Given the description of an element on the screen output the (x, y) to click on. 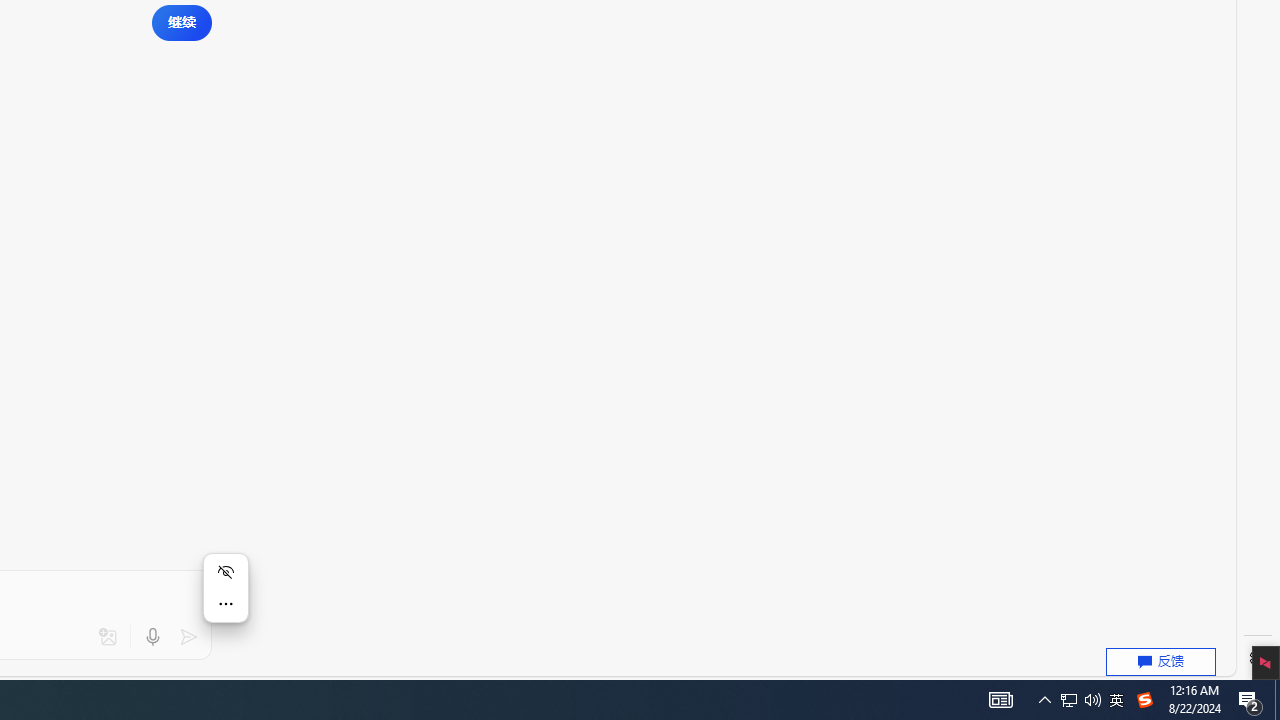
Mini menu on text selection (225, 600)
Mini menu on text selection (225, 587)
More actions (225, 603)
Hide menu (225, 571)
